Given the description of an element on the screen output the (x, y) to click on. 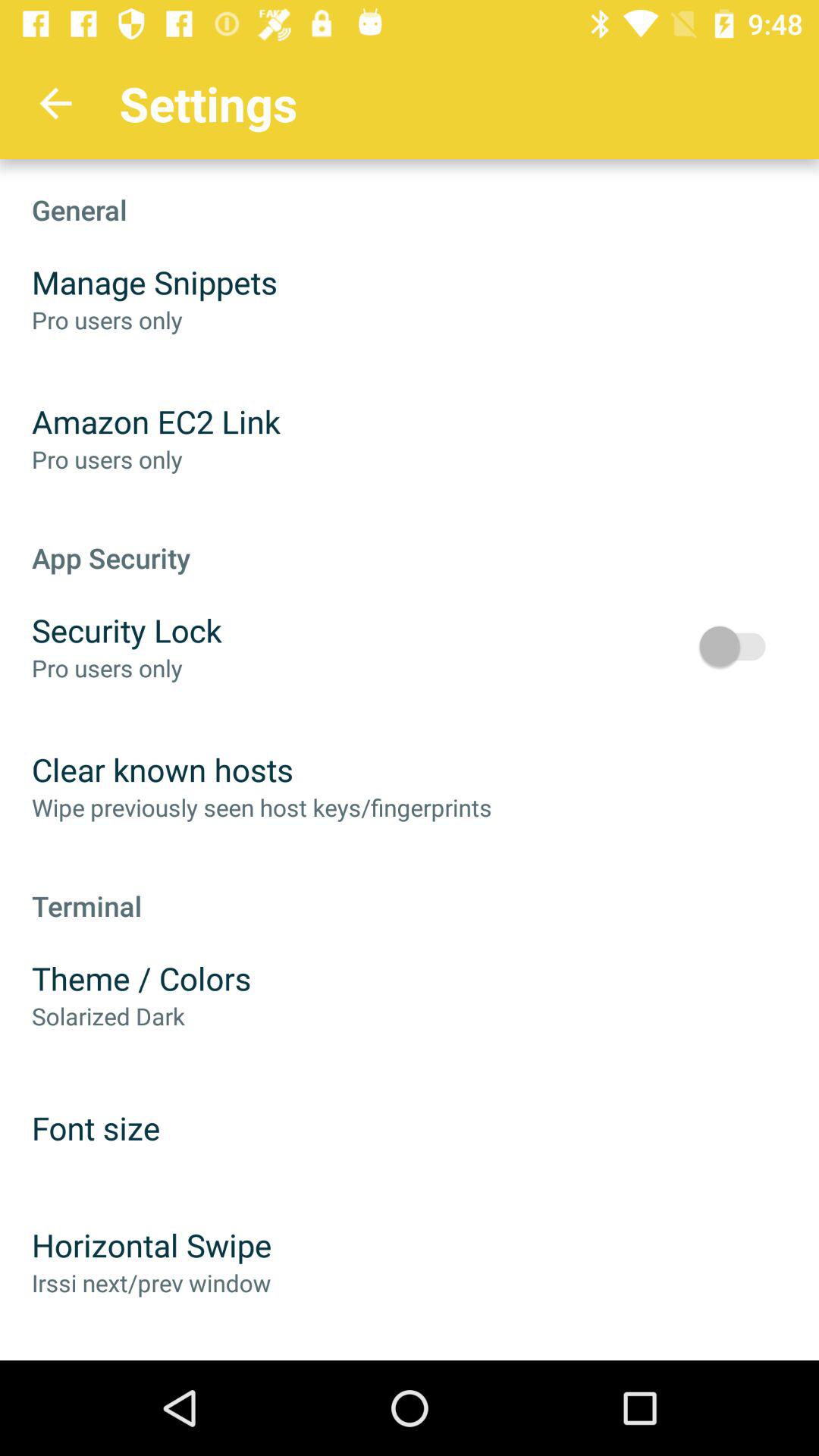
choose the security lock icon (126, 629)
